Given the description of an element on the screen output the (x, y) to click on. 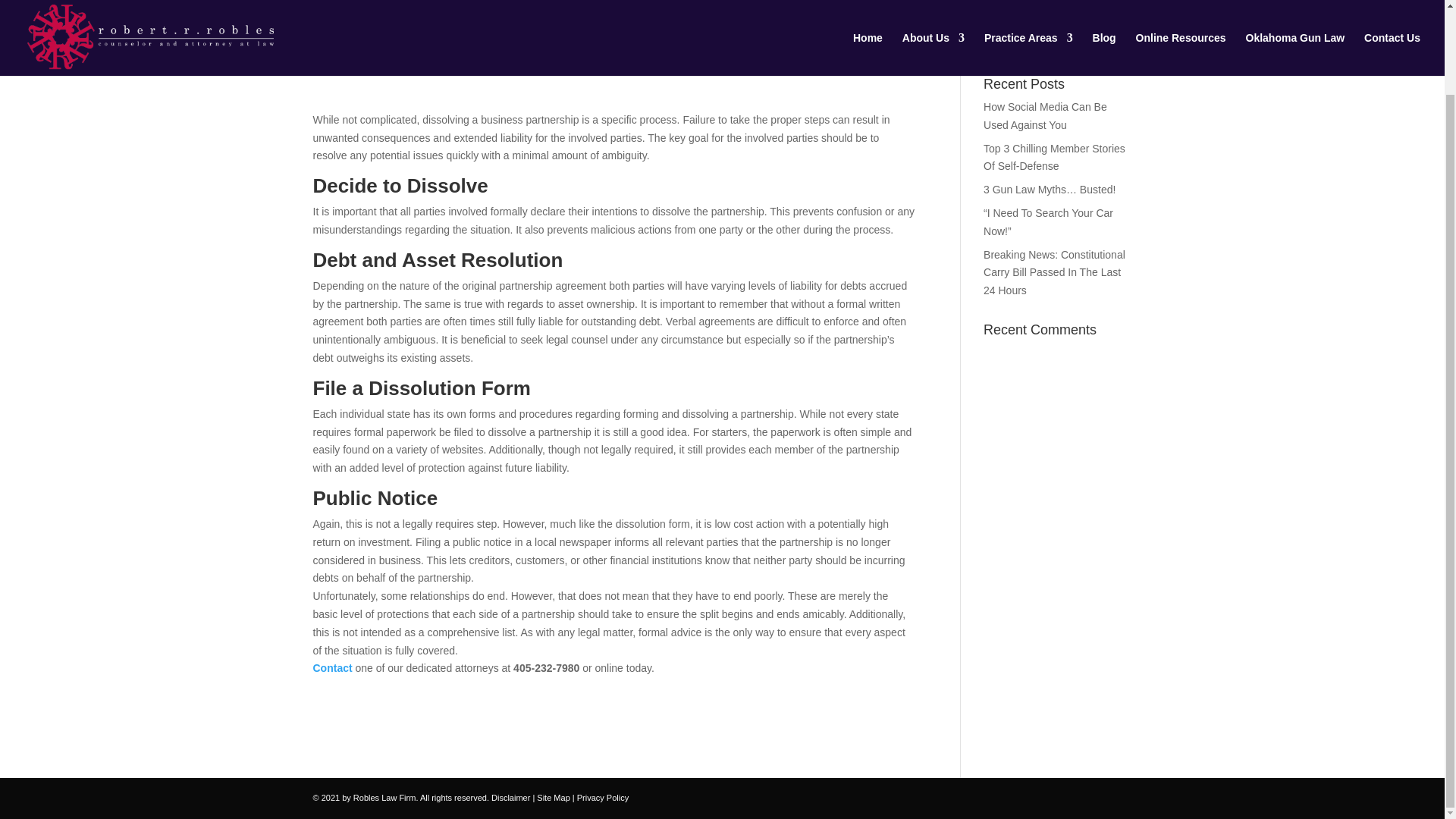
Search (1106, 39)
Contact Us (332, 667)
